Given the description of an element on the screen output the (x, y) to click on. 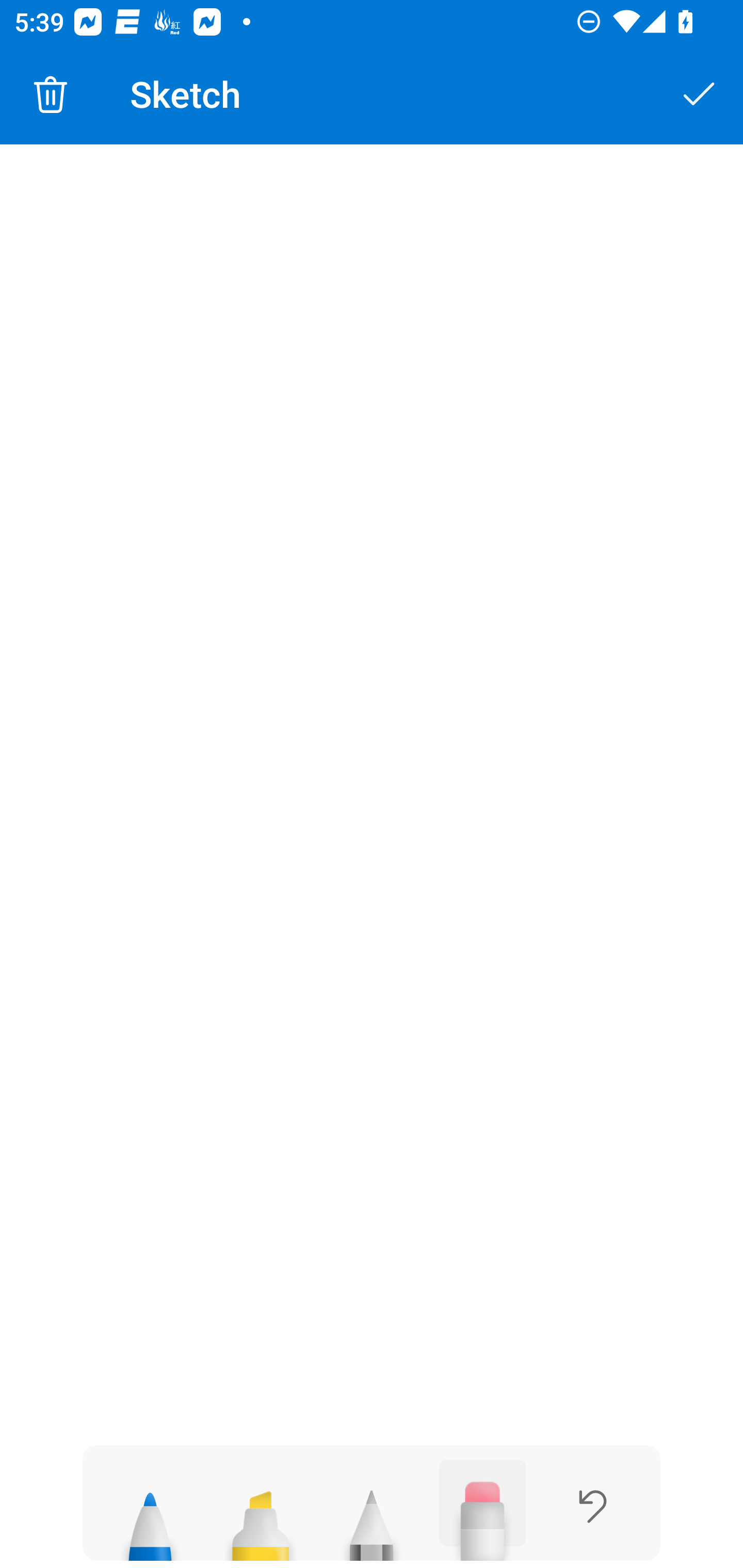
Delete Drawing (50, 93)
Save (699, 93)
Eraser tool (482, 1509)
Undo last stroke (592, 1505)
Pen tool (149, 1517)
Highlighter tool (259, 1517)
Pencil tool (371, 1517)
